Given the description of an element on the screen output the (x, y) to click on. 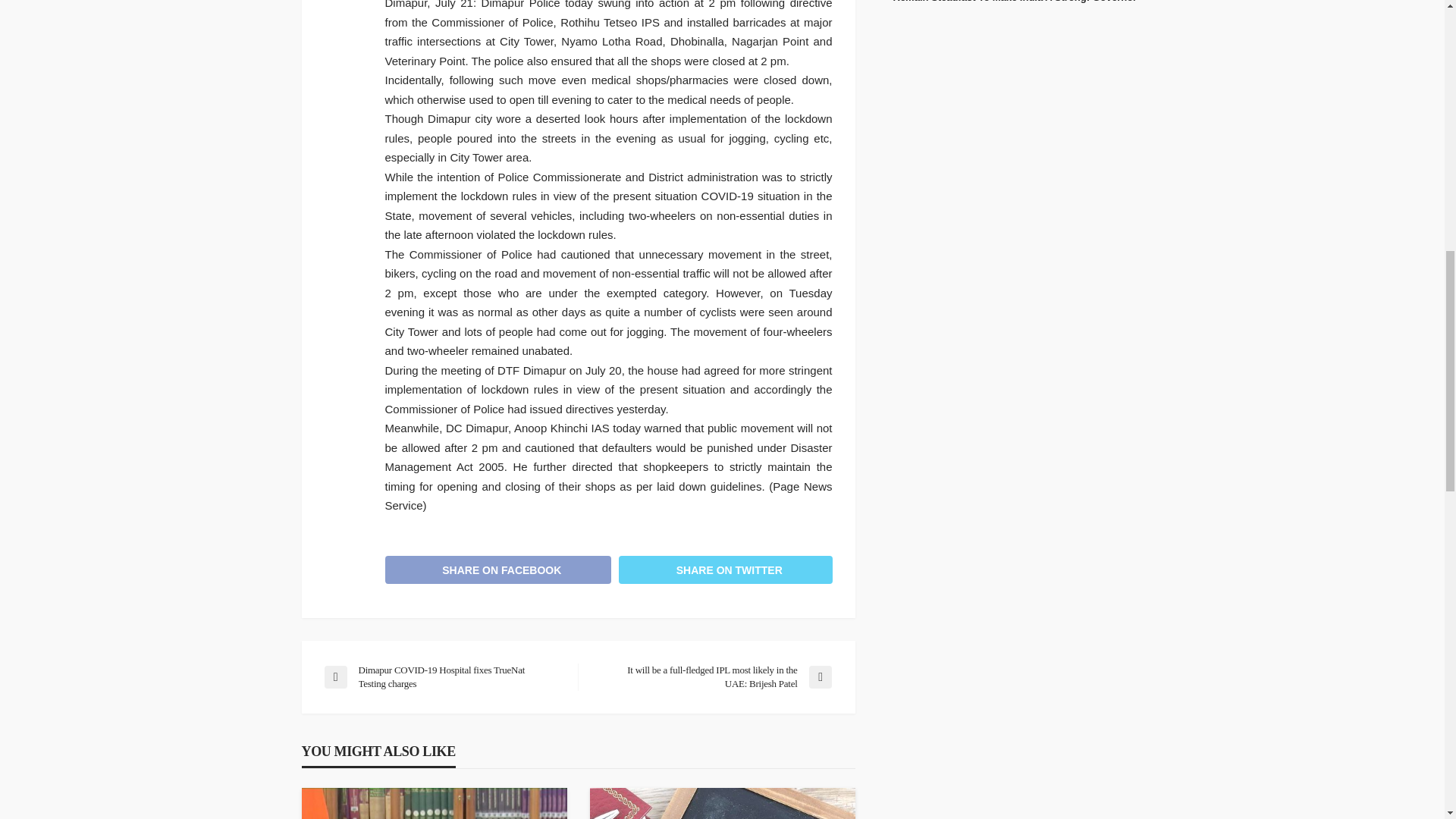
Dimapur COVID-19 Hospital fixes TrueNat Testing charges (443, 677)
